Given the description of an element on the screen output the (x, y) to click on. 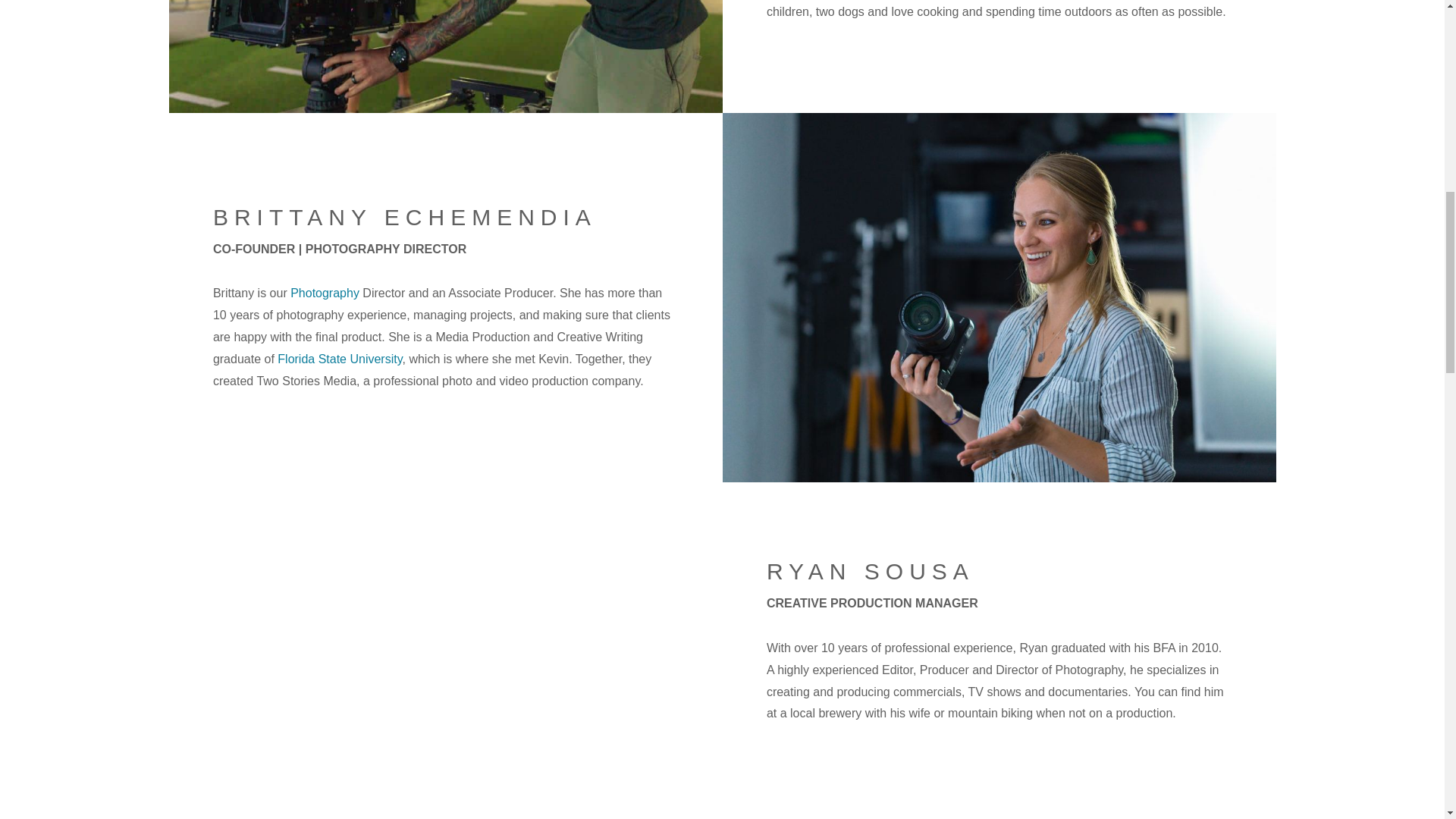
Photography (324, 292)
Florida State University (339, 358)
